Given the description of an element on the screen output the (x, y) to click on. 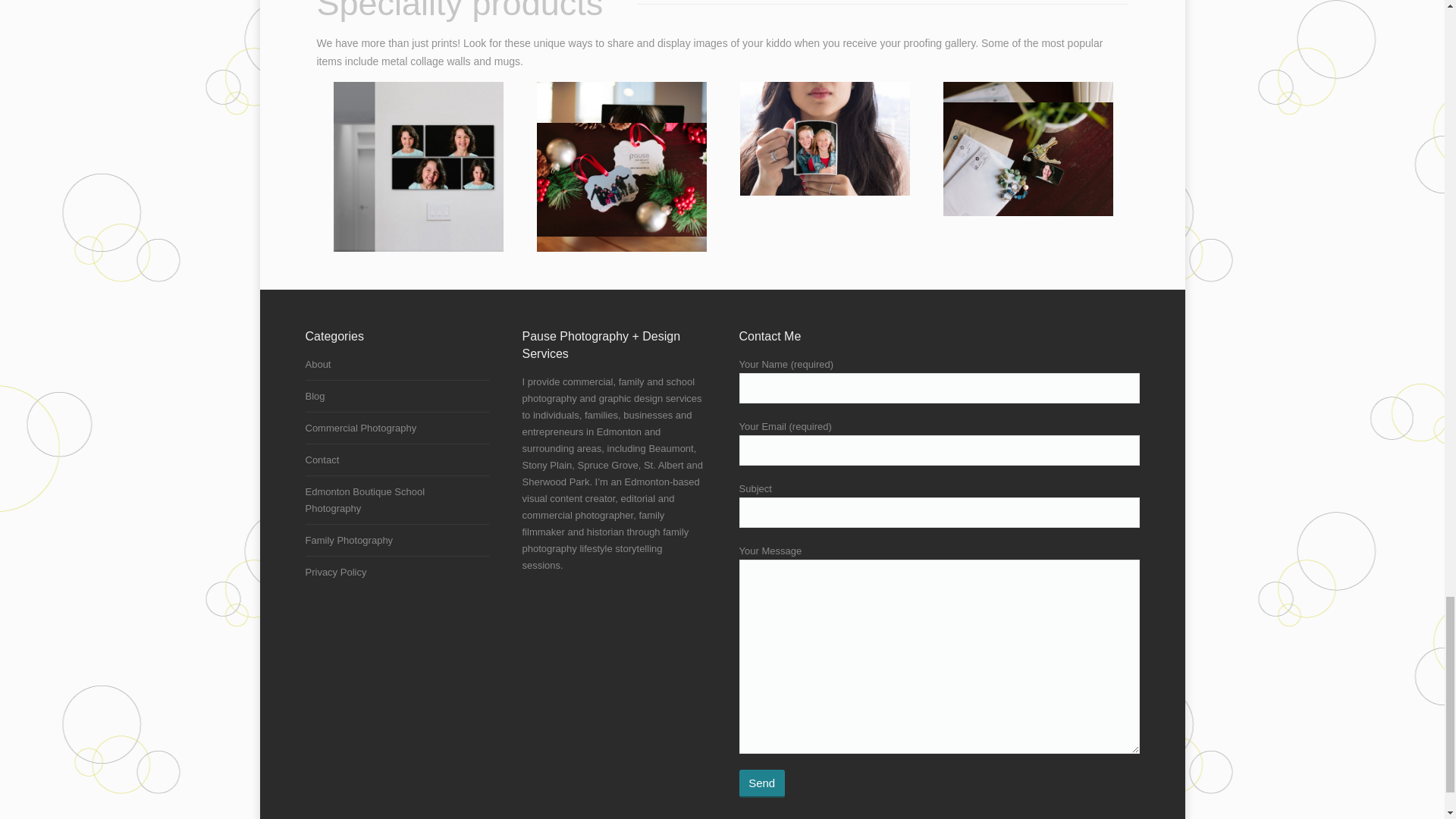
Send (761, 783)
